Given the description of an element on the screen output the (x, y) to click on. 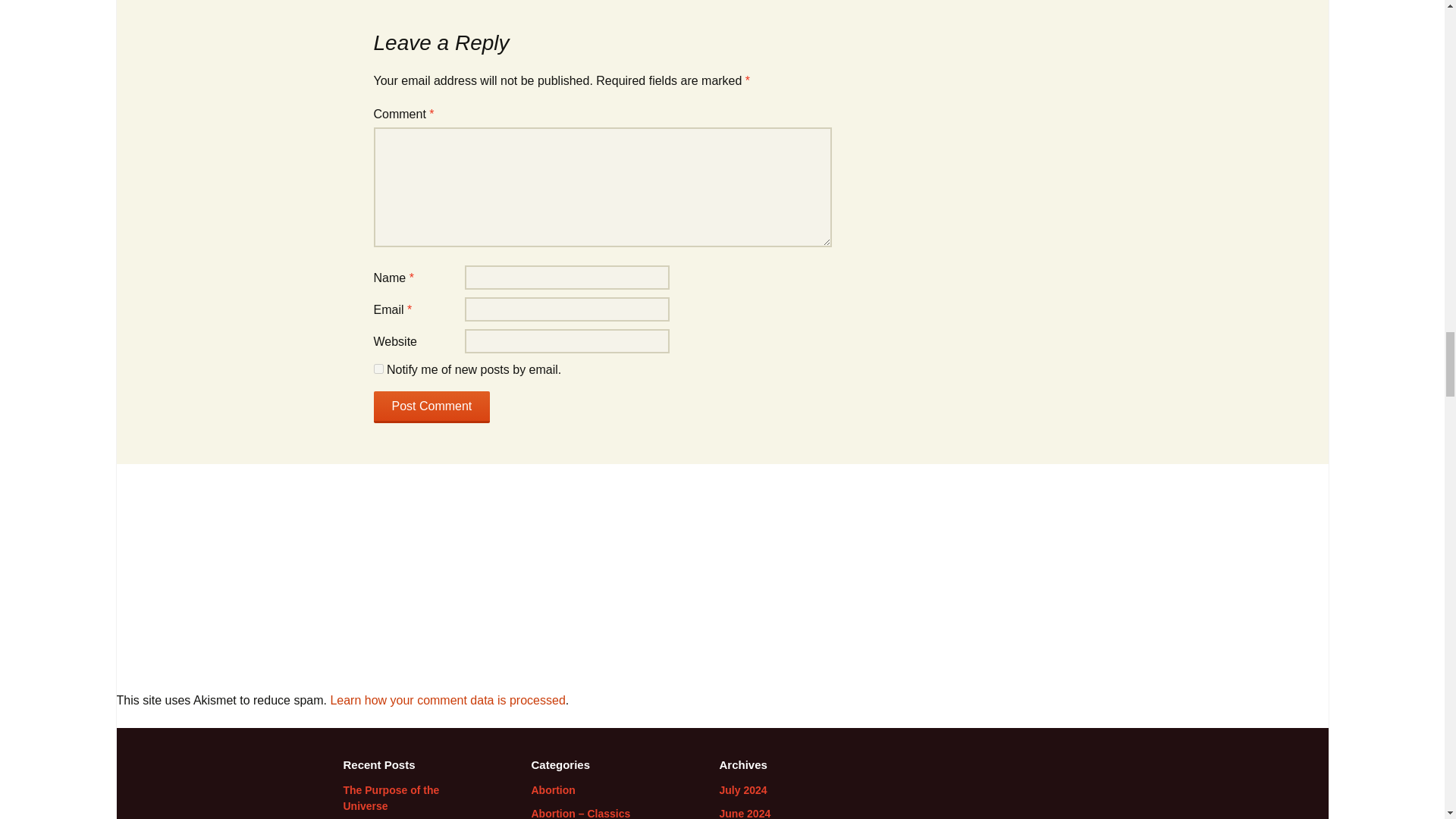
subscribe (377, 368)
Post Comment (430, 407)
